Given the description of an element on the screen output the (x, y) to click on. 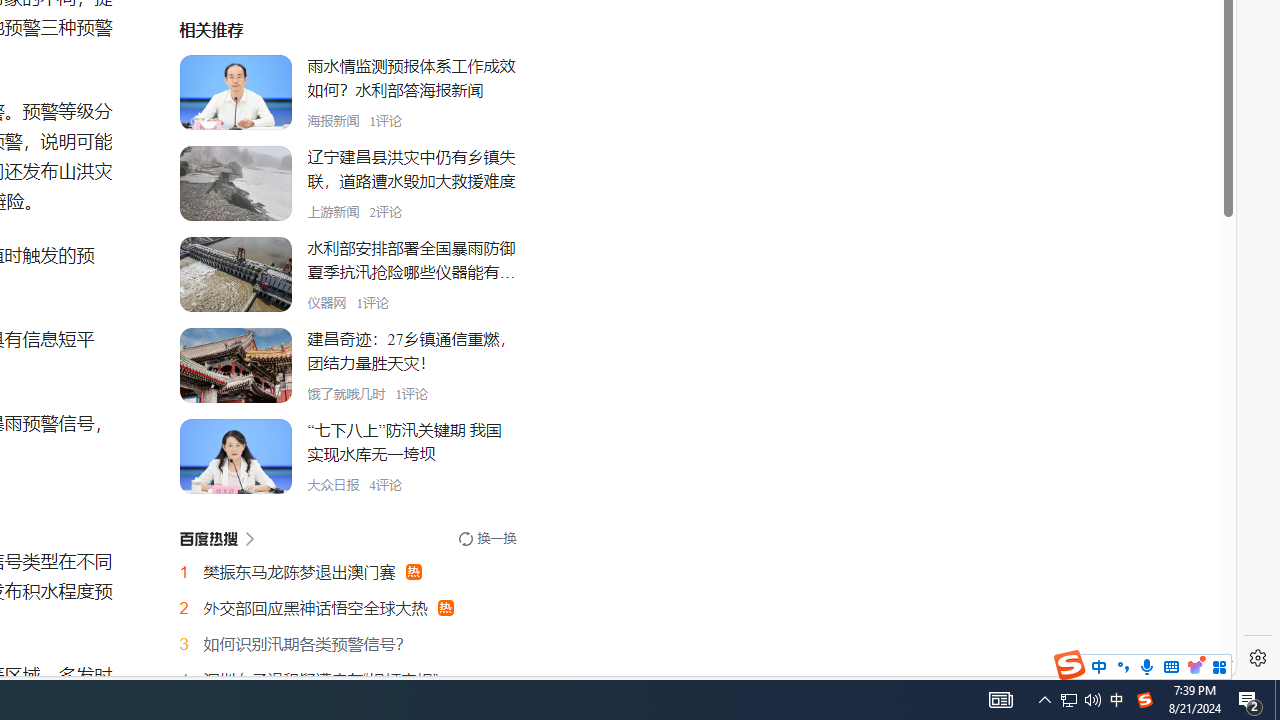
Class: XDq7y (235, 456)
Class: YHR87 (216, 538)
